Given the description of an element on the screen output the (x, y) to click on. 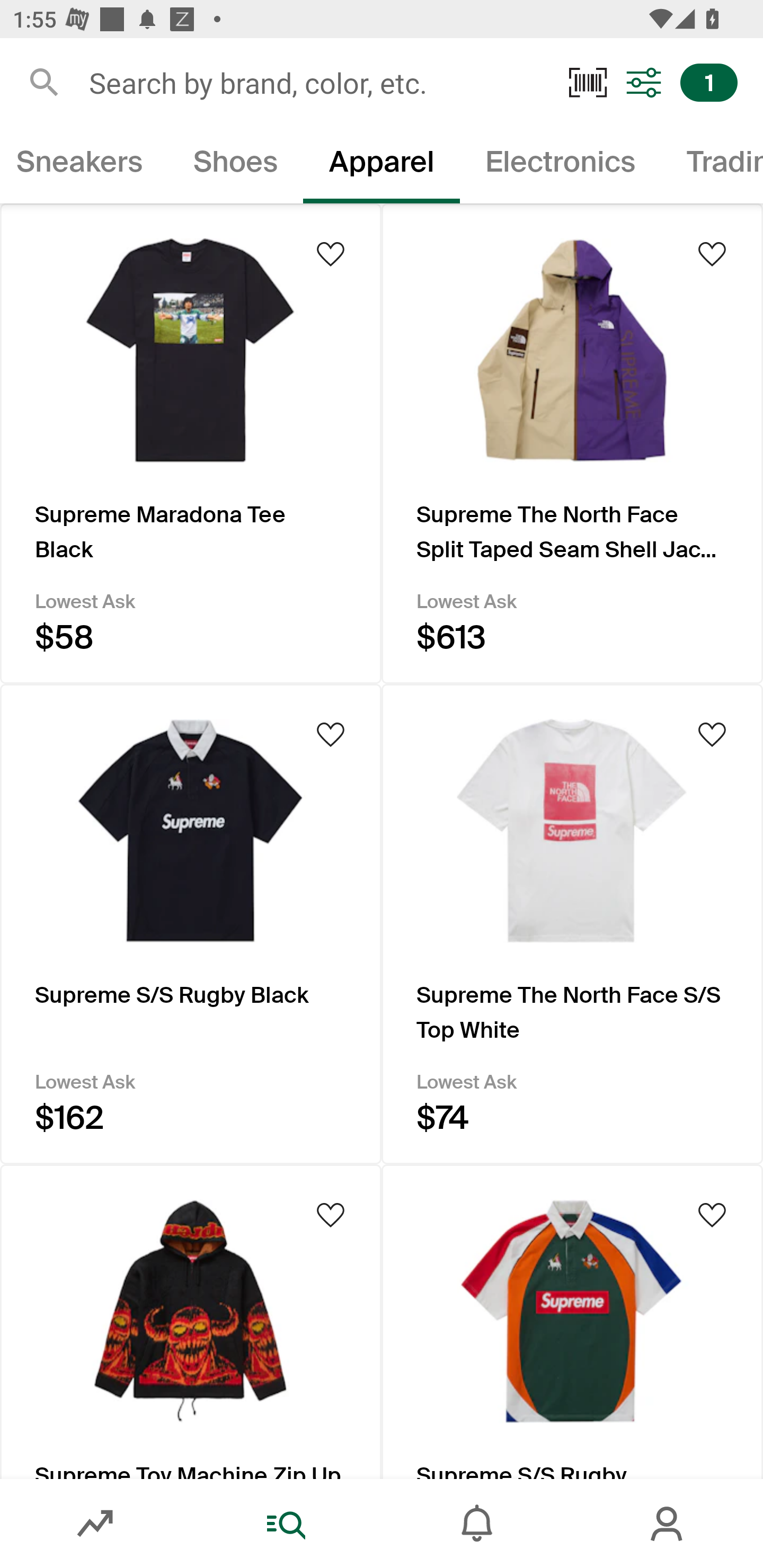
Search by brand, color, etc. (316, 82)
Sneakers (83, 165)
Shoes (234, 165)
Electronics (560, 165)
Trading Cards (711, 165)
Product Image Supreme S/S Rugby Multicolor (572, 1321)
Market (95, 1523)
Inbox (476, 1523)
Account (667, 1523)
